Given the description of an element on the screen output the (x, y) to click on. 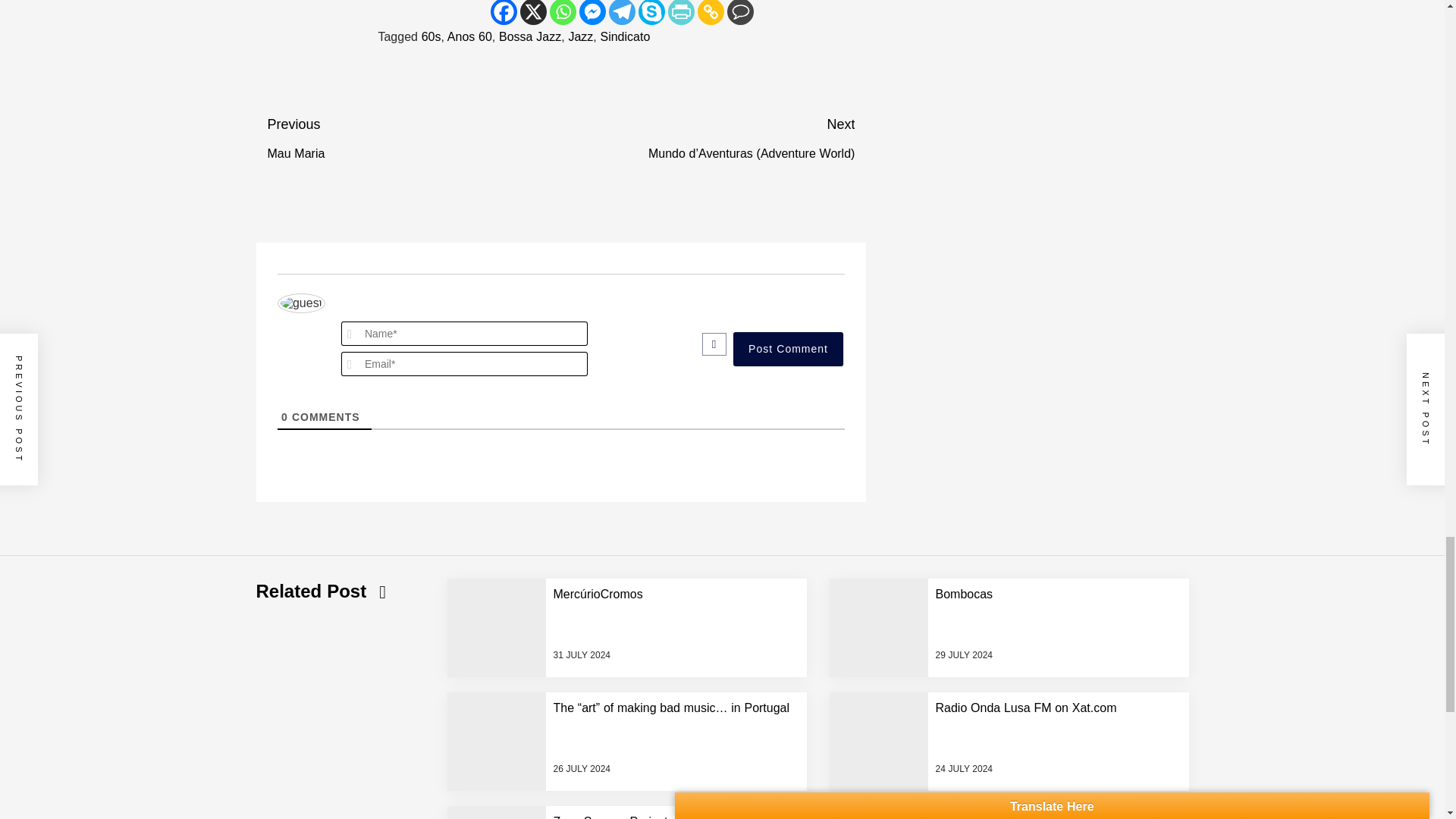
60s (431, 36)
PrintFriendly (681, 12)
Facebook (503, 12)
Sindicato (624, 36)
X (533, 12)
Jazz (579, 36)
Whatsapp (413, 138)
Anos 60 (563, 12)
Bossa Jazz (469, 36)
Telegram (529, 36)
Post Comment (621, 12)
Copy Link (788, 349)
comment (710, 12)
Skype (740, 12)
